Given the description of an element on the screen output the (x, y) to click on. 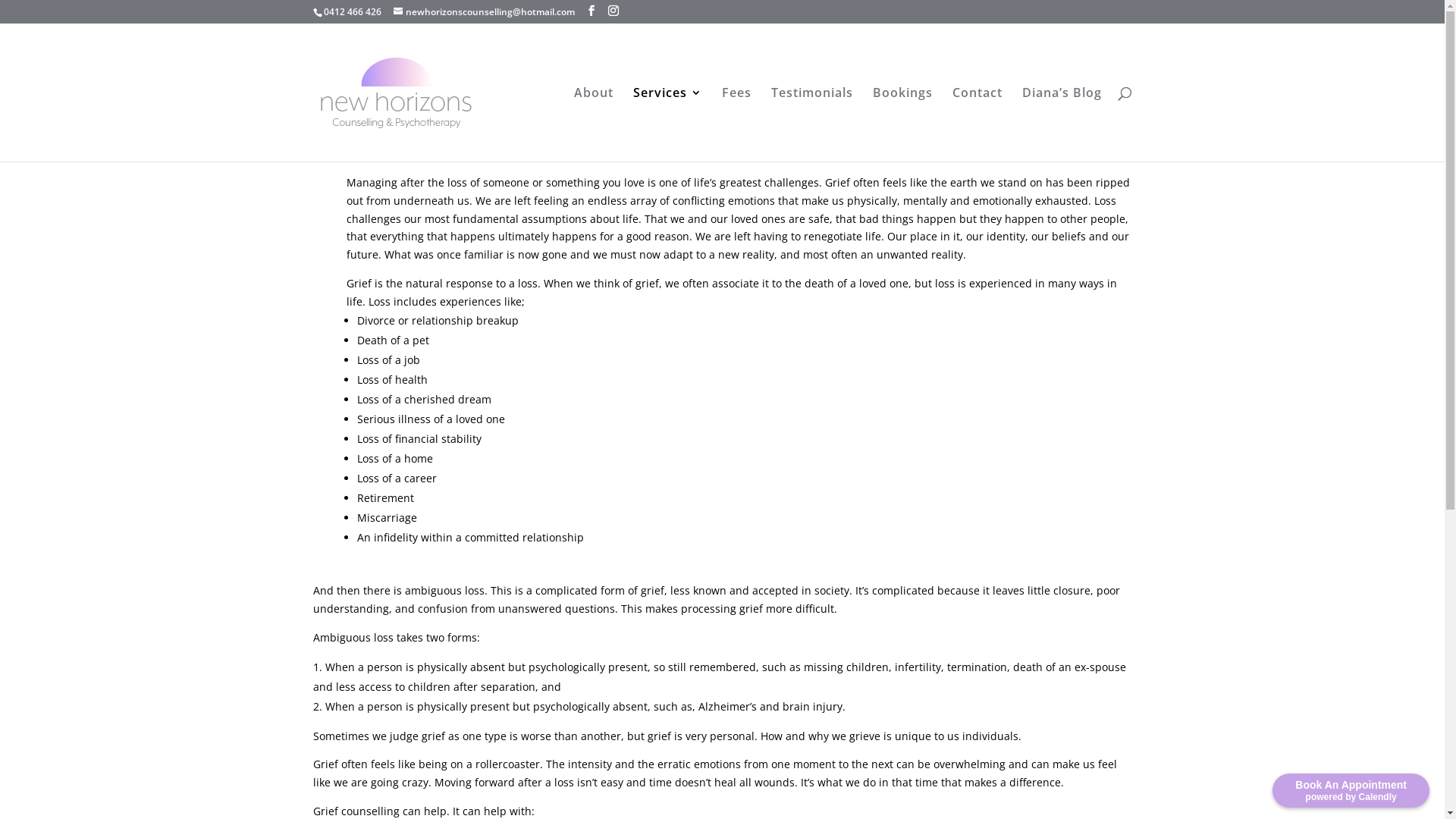
Services Element type: text (666, 124)
Contact Element type: text (977, 124)
About Element type: text (592, 124)
Fees Element type: text (736, 124)
Testimonials Element type: text (811, 124)
newhorizonscounselling@hotmail.com Element type: text (483, 11)
Bookings Element type: text (901, 124)
